Given the description of an element on the screen output the (x, y) to click on. 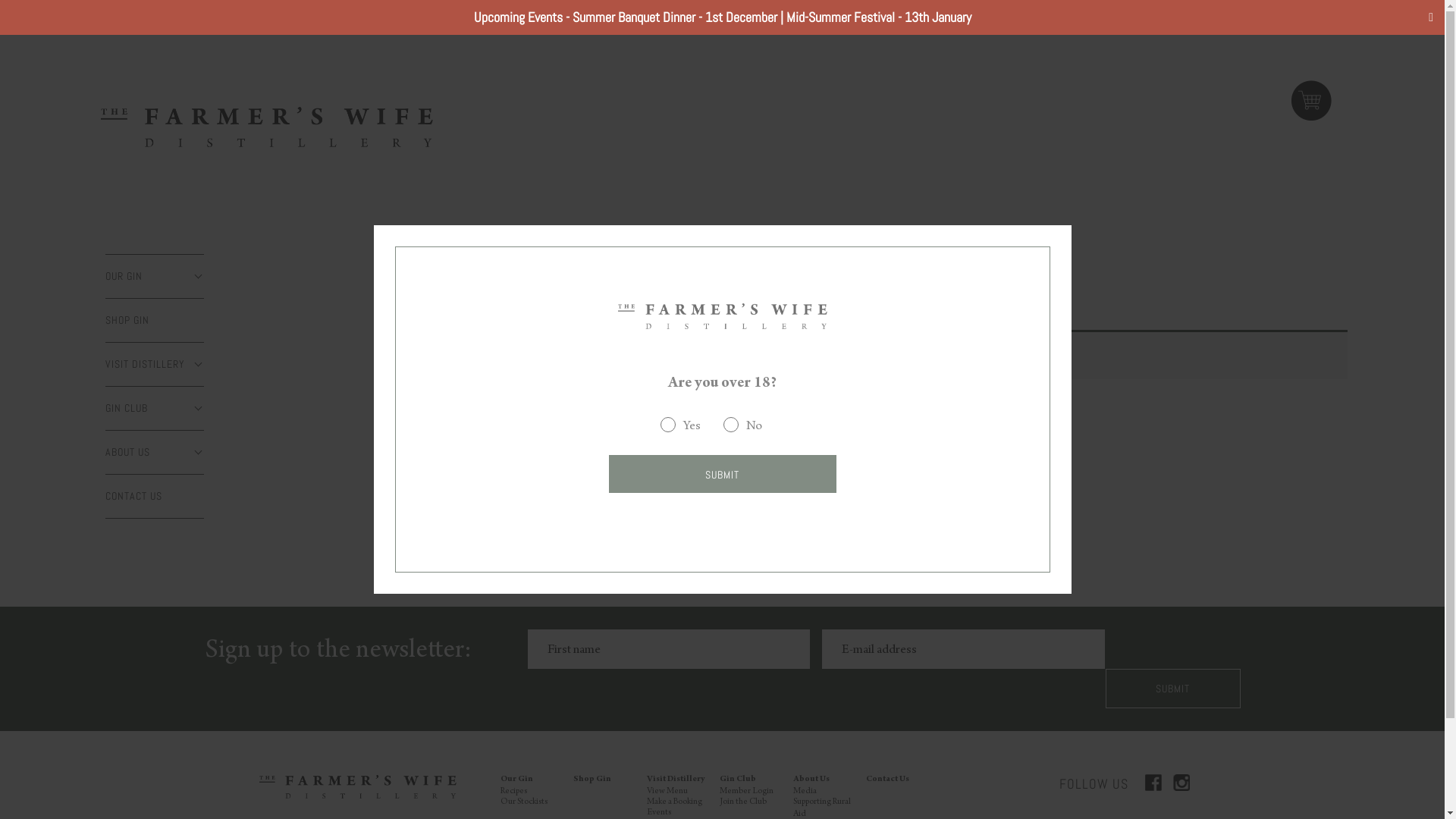
ABOUT US Element type: text (154, 451)
Visit Distillery Element type: text (675, 779)
RETURN TO SHOP Element type: text (570, 425)
Our Stockists Element type: text (523, 801)
Submit Element type: text (1172, 688)
Submit Element type: text (721, 473)
Events Element type: text (658, 812)
Make a Booking Element type: text (674, 801)
CLOSE Element type: text (192, 408)
View Menu Element type: text (666, 791)
Join the Club Element type: text (742, 801)
Member Login Element type: text (746, 791)
CLOSE Element type: text (192, 276)
facebook Element type: text (1153, 782)
SHOP GIN Element type: text (154, 320)
Media Element type: text (804, 791)
Contact Us Element type: text (887, 779)
Gin Club Element type: text (737, 779)
About Us Element type: text (811, 779)
CLOSE Element type: text (192, 364)
OUR GIN Element type: text (154, 276)
Shop Gin Element type: text (592, 779)
VISIT DISTILLERY Element type: text (154, 363)
The Farmer's Wife Distillery Element type: hover (357, 786)
GIN CLUB Element type: text (154, 407)
Our Gin Element type: text (516, 779)
Recipes Element type: text (513, 791)
The Farmer's Wife Distillery Element type: hover (266, 126)
CONTACT US Element type: text (154, 495)
instagram Element type: text (1180, 782)
The Farmer's Wife Distillery Element type: hover (721, 315)
CLOSE Element type: text (192, 452)
